Given the description of an element on the screen output the (x, y) to click on. 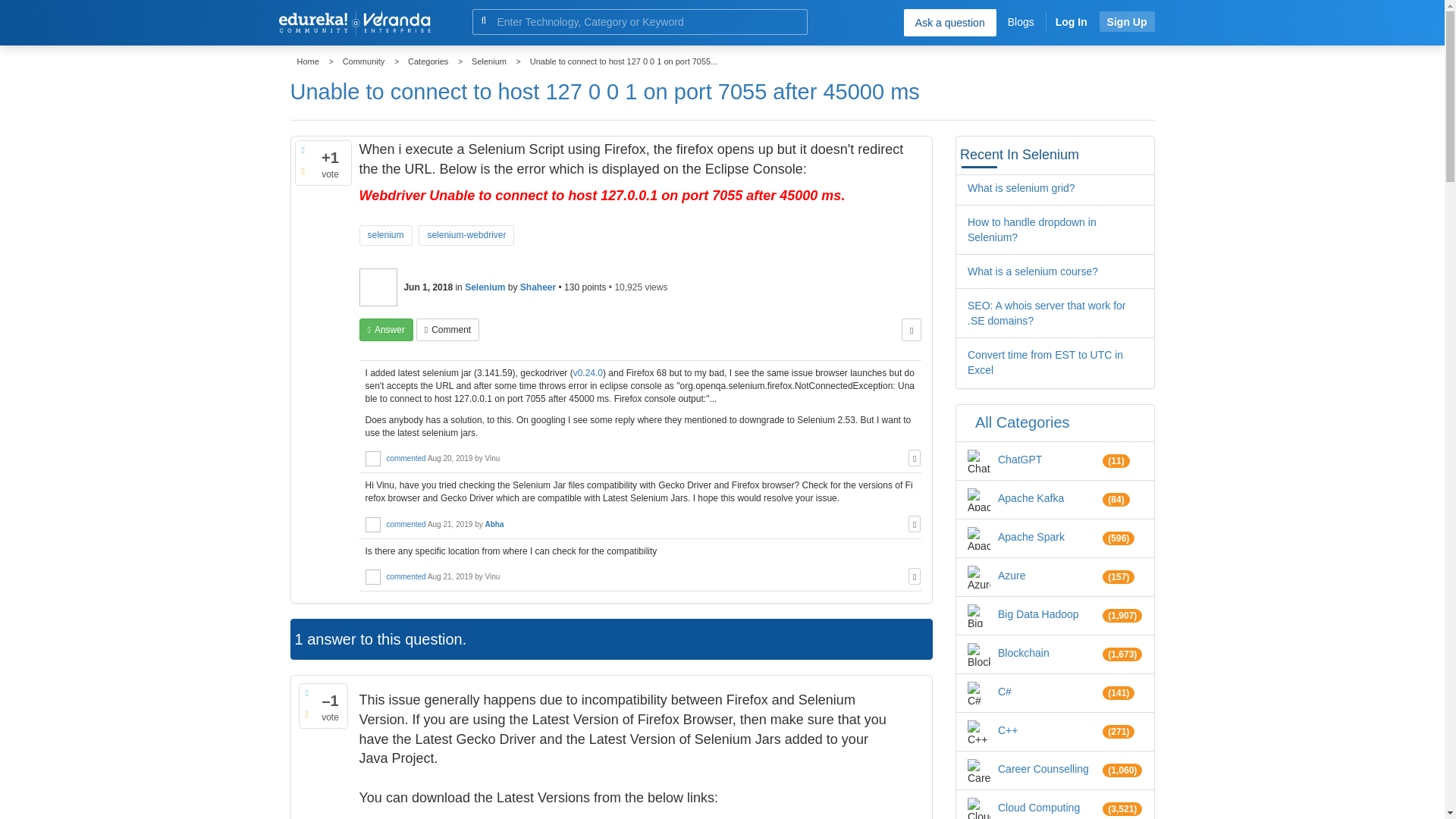
Answer this question (386, 329)
Add a comment on this question (447, 329)
Blogs (1020, 21)
Ask a question (949, 22)
